Given the description of an element on the screen output the (x, y) to click on. 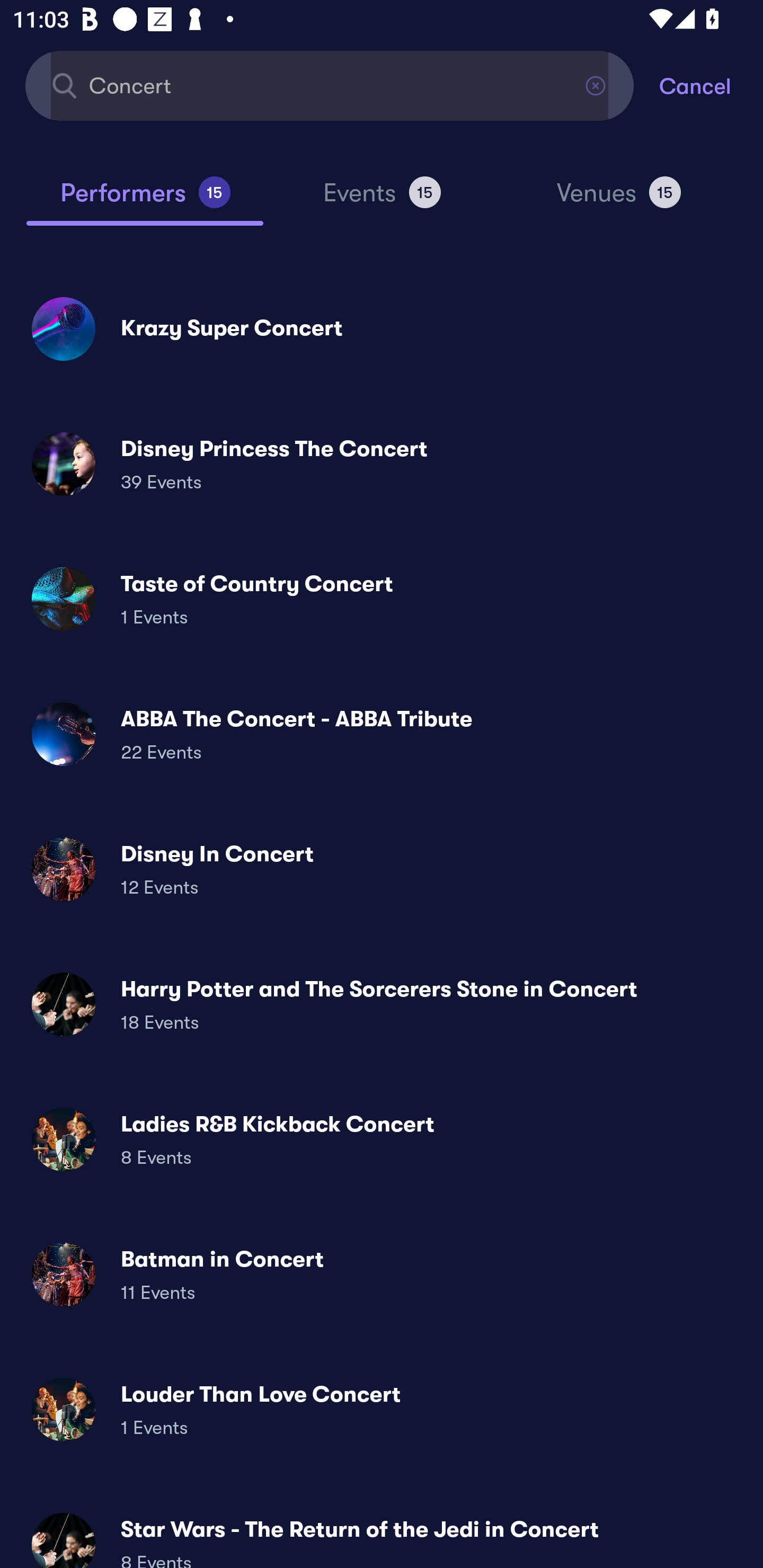
Concert Find (329, 85)
Concert Find (329, 85)
Cancel (711, 85)
Performers 15 (144, 200)
Events 15 (381, 200)
Venues 15 (618, 200)
Krazy Super Concert (381, 328)
Disney Princess The Concert 39 Events (381, 464)
Taste of Country Concert 1 Events (381, 598)
ABBA The Concert - ABBA Tribute 22 Events (381, 734)
Disney In Concert 12 Events (381, 869)
Ladies R&B Kickback Concert 8 Events (381, 1138)
Batman in Concert 11 Events (381, 1273)
Louder Than Love Concert 1 Events (381, 1409)
